Given the description of an element on the screen output the (x, y) to click on. 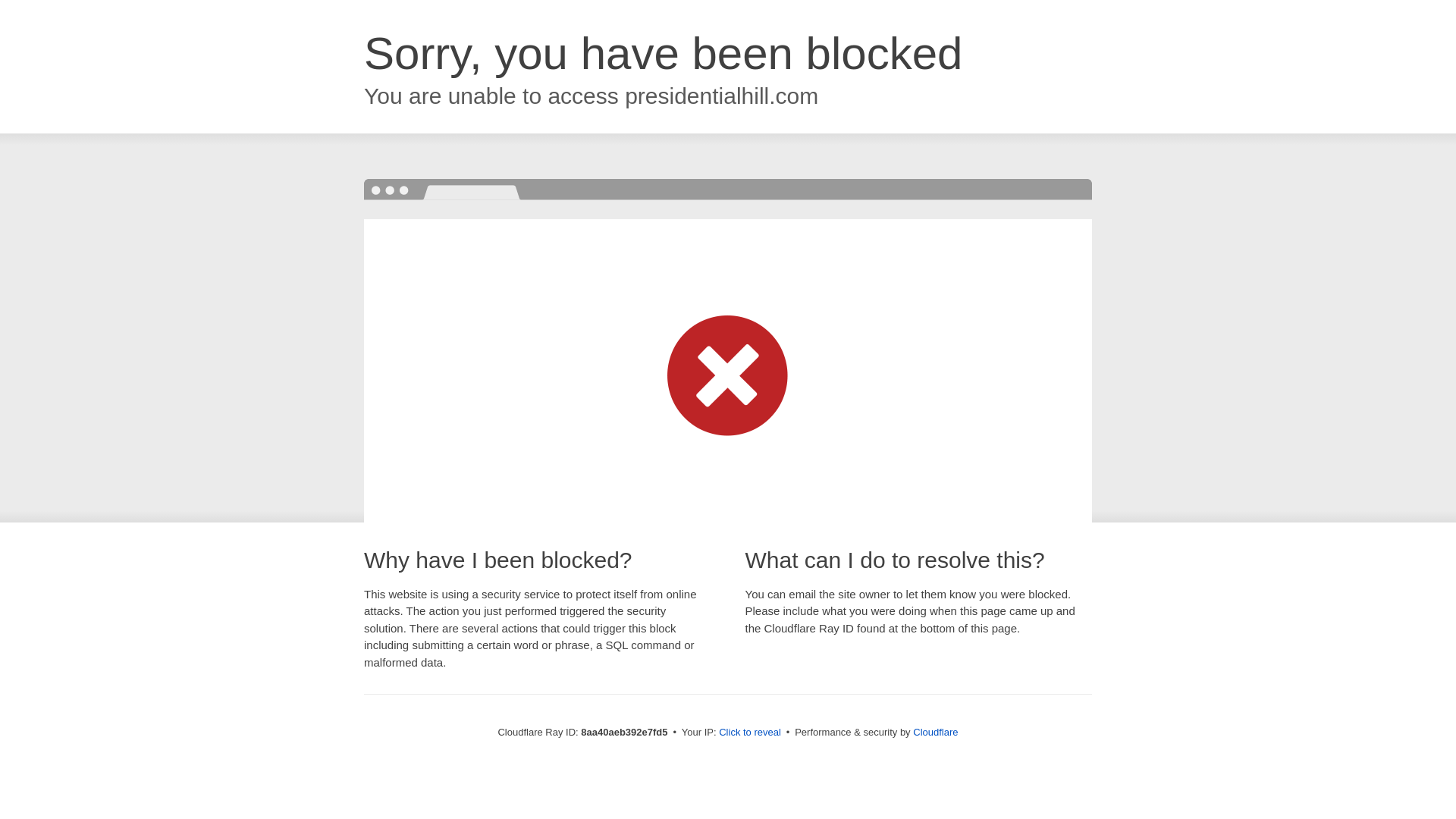
Click to reveal (749, 732)
Cloudflare (935, 731)
